Given the description of an element on the screen output the (x, y) to click on. 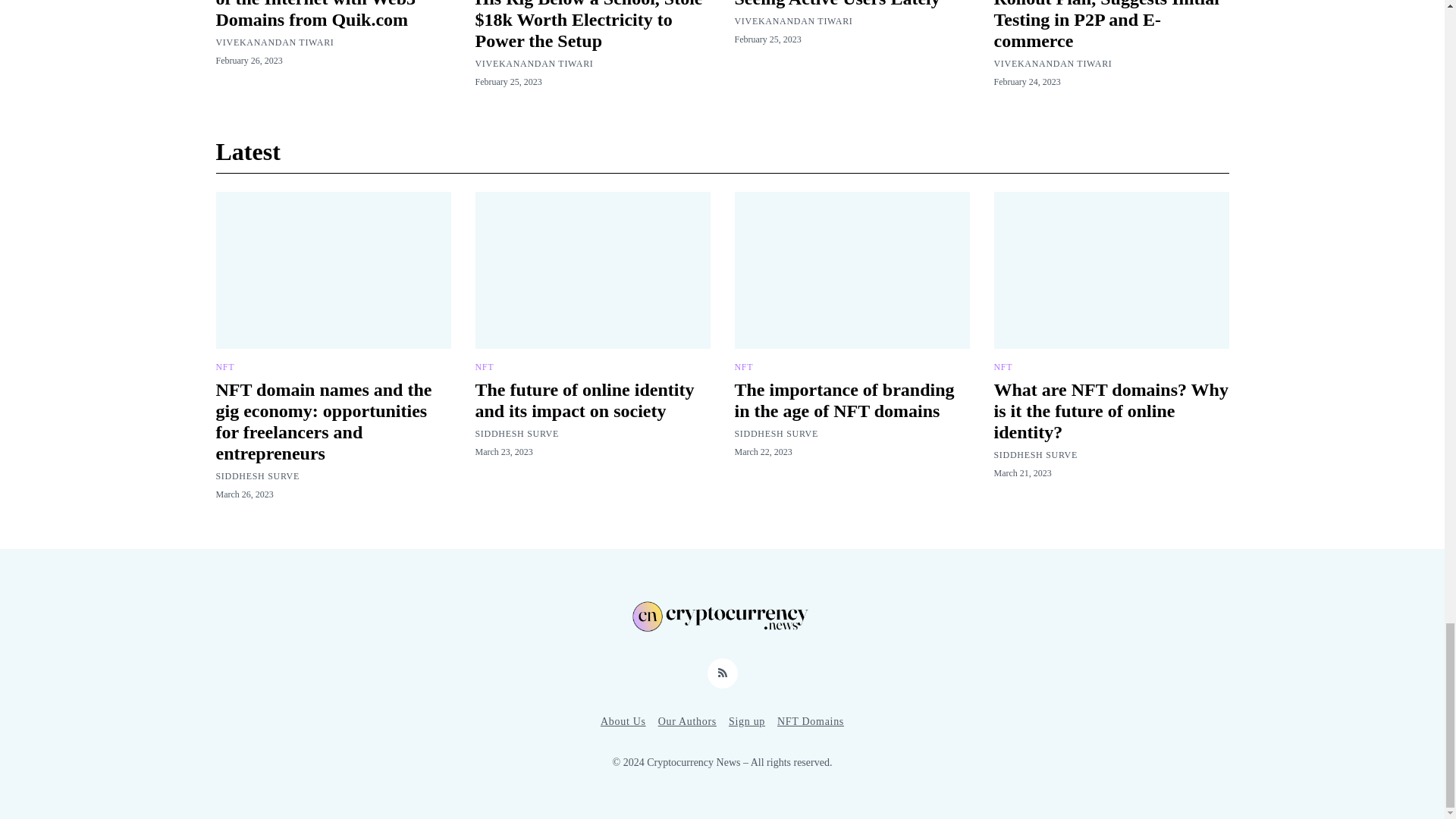
VIVEKANANDAN TIWARI (274, 42)
Solana NFT Marketplace Seeing Active Users Lately (836, 4)
VIVEKANANDAN TIWARI (533, 63)
